Given the description of an element on the screen output the (x, y) to click on. 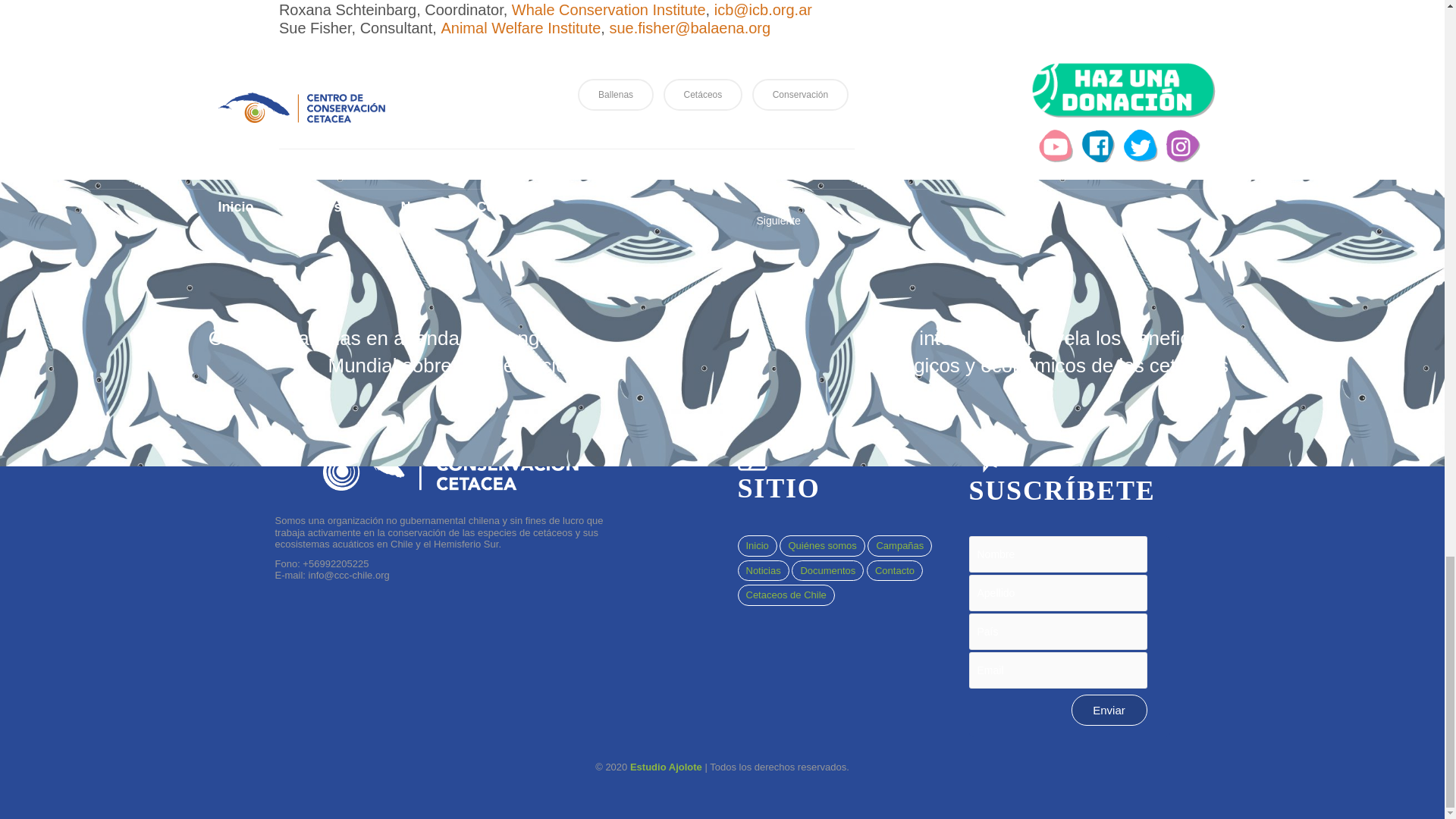
Animal Welfare Institute (520, 27)
Whale Conservation Institute (609, 9)
Ballenas (615, 94)
